Given the description of an element on the screen output the (x, y) to click on. 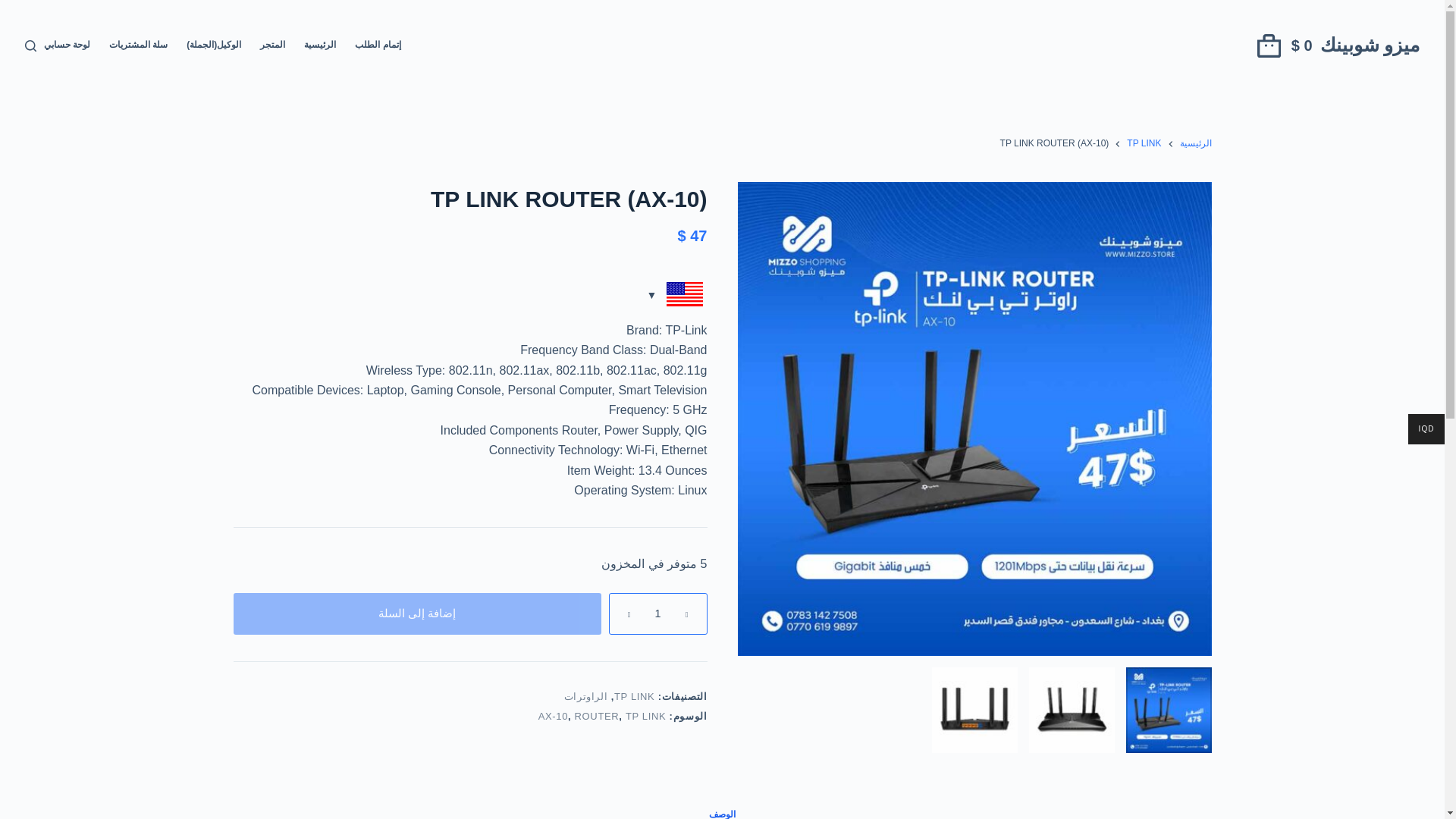
AX-10 (552, 715)
TP LINK (1143, 143)
1 (657, 613)
SDS (973, 709)
Please select your currency (676, 295)
1 (1168, 709)
ROUTER (597, 715)
2 (1070, 709)
TP LINK (633, 696)
